Given the description of an element on the screen output the (x, y) to click on. 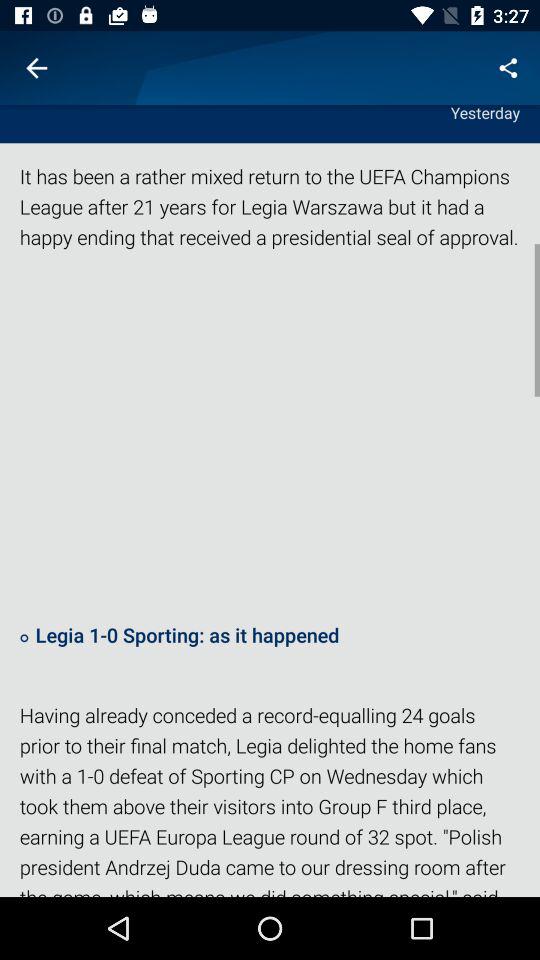
scroll to having already conceded icon (269, 797)
